Given the description of an element on the screen output the (x, y) to click on. 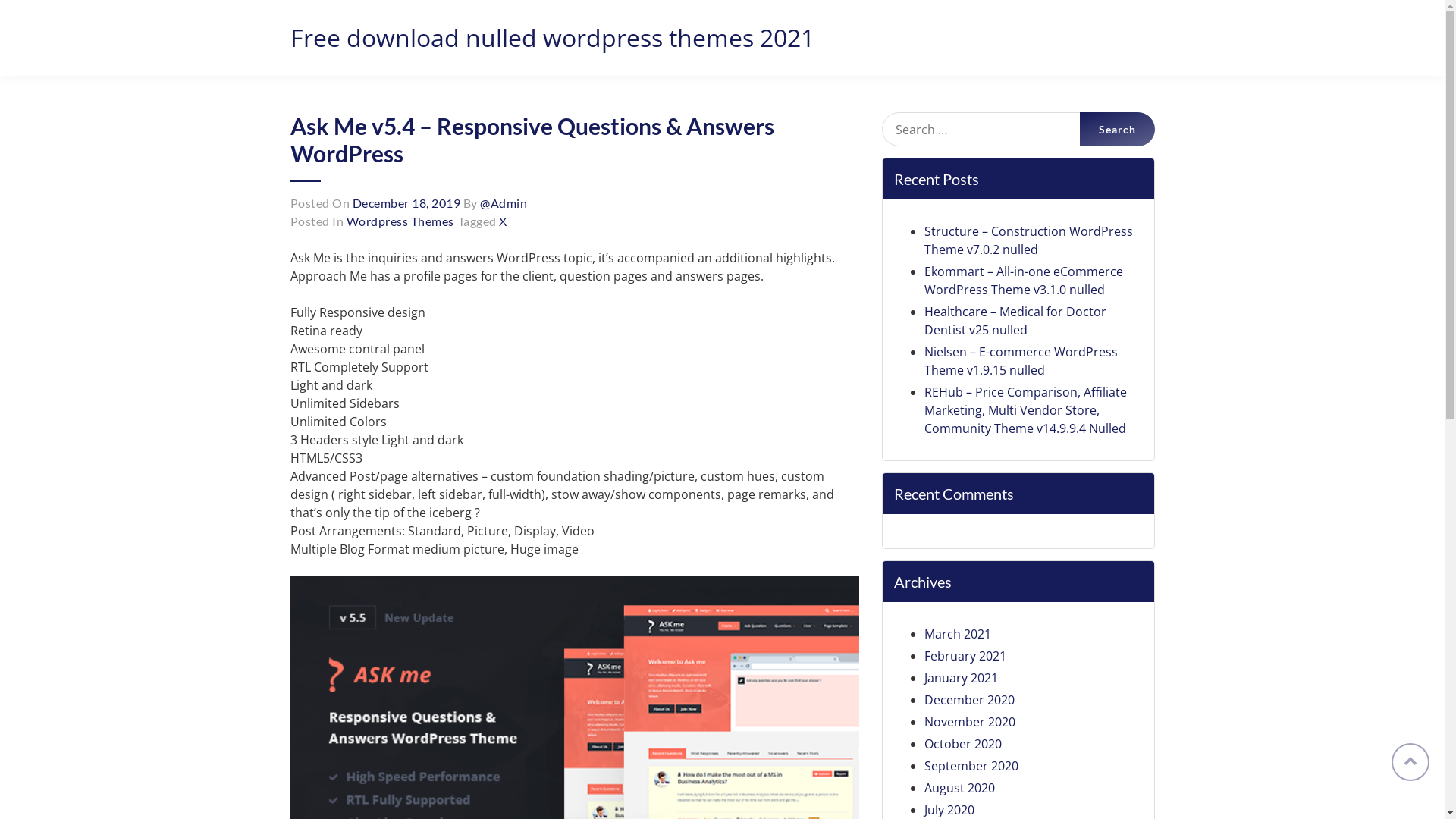
February 2021 Element type: text (964, 655)
January 2021 Element type: text (960, 677)
@Admin Element type: text (503, 202)
December 18, 2019 Element type: text (405, 202)
December 2020 Element type: text (968, 699)
Free download nulled wordpress themes 2021 Element type: text (551, 37)
March 2021 Element type: text (956, 633)
October 2020 Element type: text (962, 743)
August 2020 Element type: text (958, 787)
Search Element type: text (1116, 129)
X Element type: text (502, 220)
July 2020 Element type: text (948, 809)
September 2020 Element type: text (970, 765)
November 2020 Element type: text (968, 721)
Wordpress Themes Element type: text (399, 220)
